Given the description of an element on the screen output the (x, y) to click on. 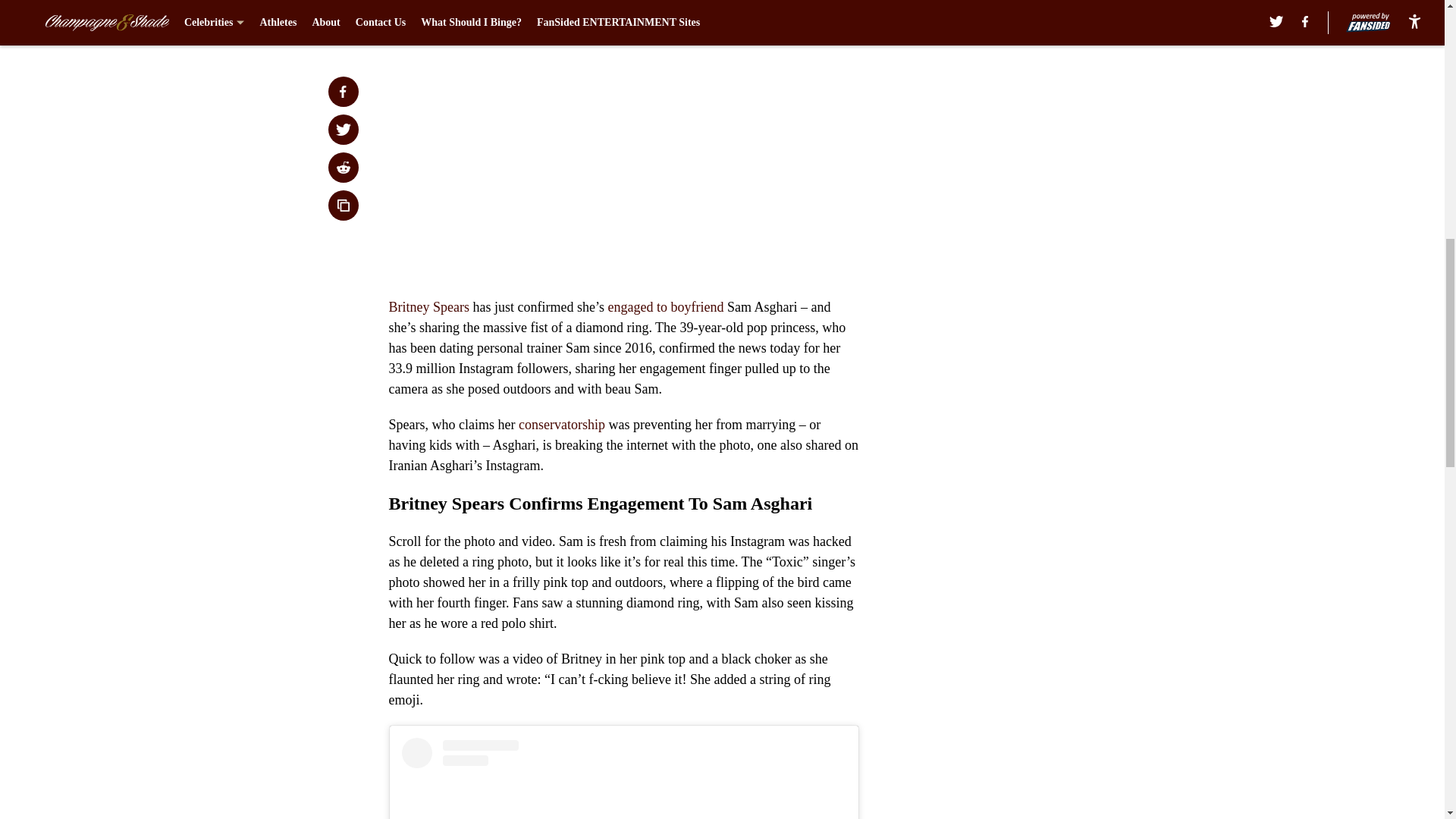
Britney Spears (428, 306)
engaged to boyfriend (665, 306)
View this post on Instagram (623, 778)
conservatorship (561, 424)
